Given the description of an element on the screen output the (x, y) to click on. 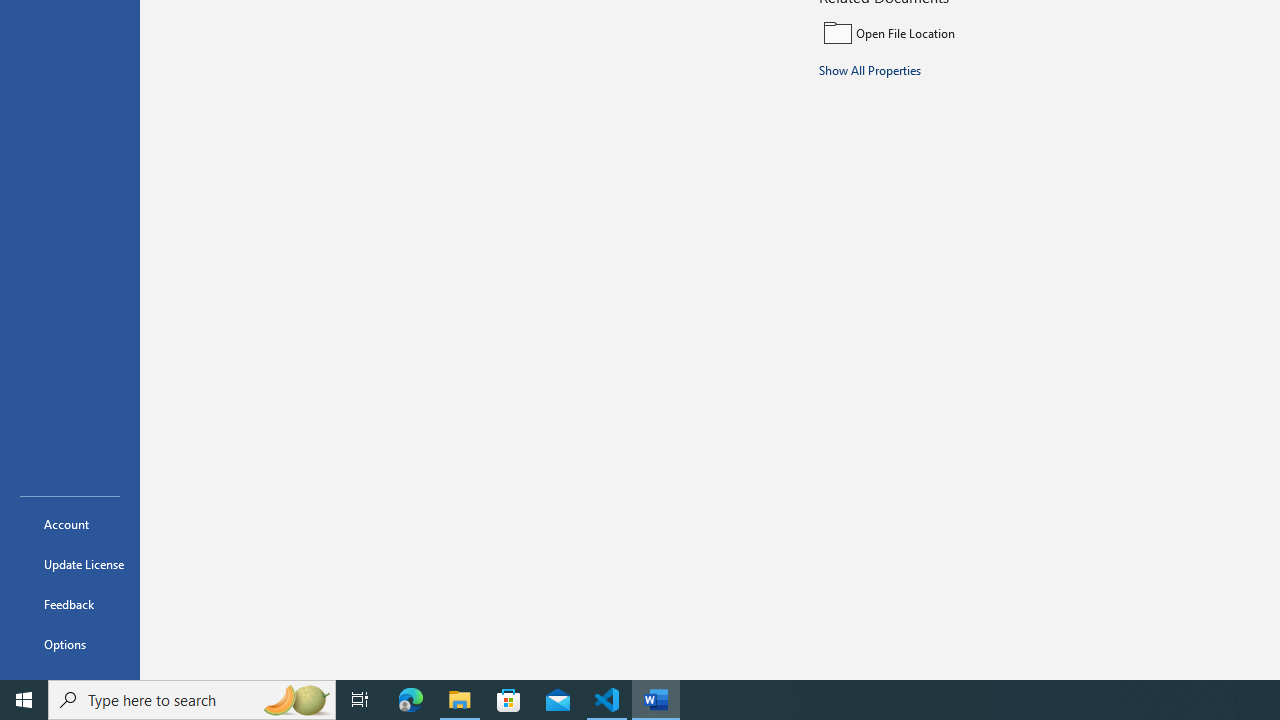
Options (69, 643)
Feedback (69, 603)
Account (69, 523)
Open File Location (953, 32)
Update License (69, 563)
Show All Properties (870, 69)
